Given the description of an element on the screen output the (x, y) to click on. 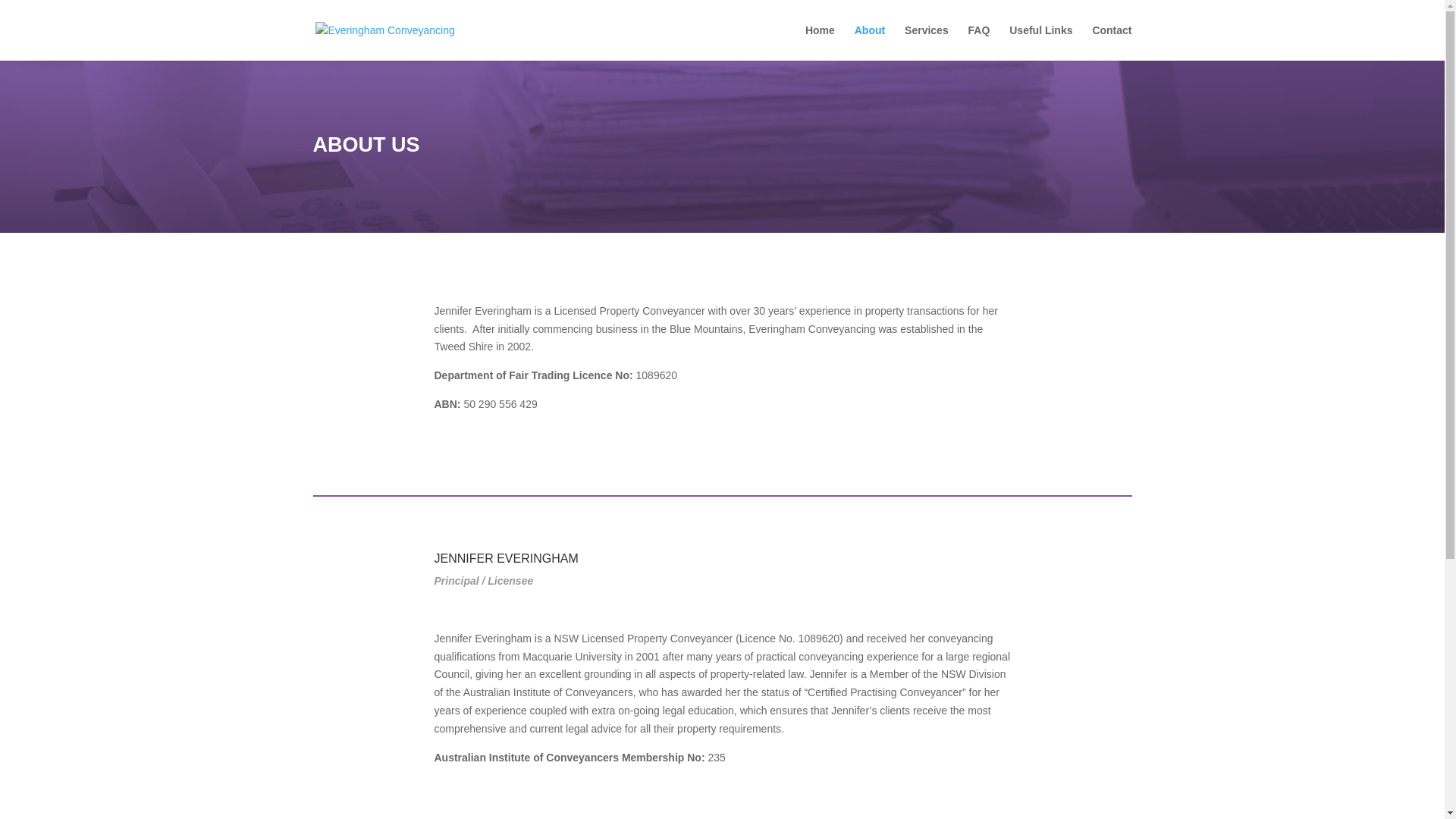
Services Element type: text (926, 42)
About Element type: text (869, 42)
Contact Element type: text (1111, 42)
Useful Links Element type: text (1040, 42)
FAQ Element type: text (979, 42)
Home Element type: text (819, 42)
